Given the description of an element on the screen output the (x, y) to click on. 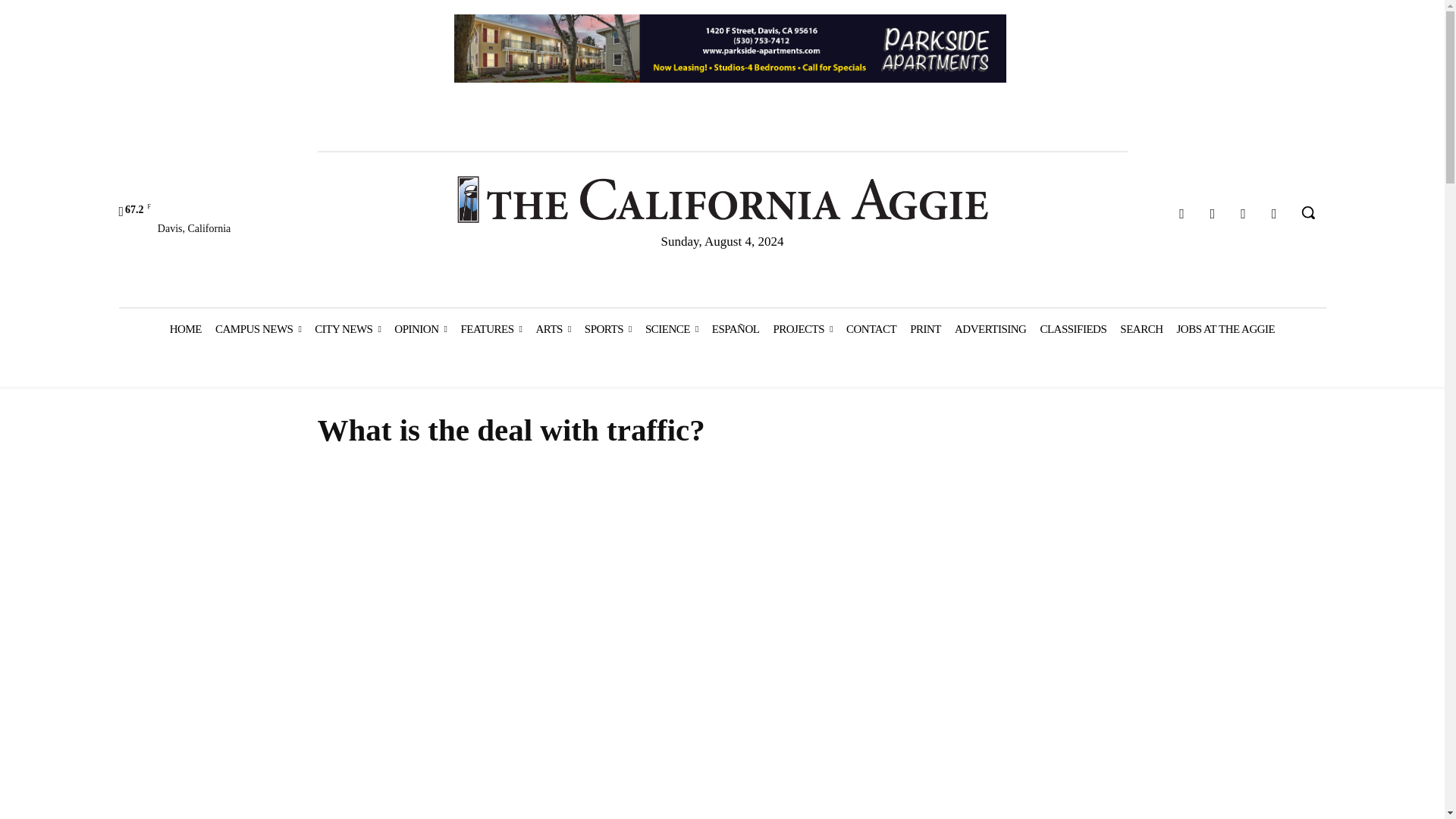
Twitter (1243, 214)
HOME (185, 329)
Facebook (1181, 214)
Youtube (1273, 214)
CAMPUS NEWS (257, 329)
Instagram (1212, 214)
